Given the description of an element on the screen output the (x, y) to click on. 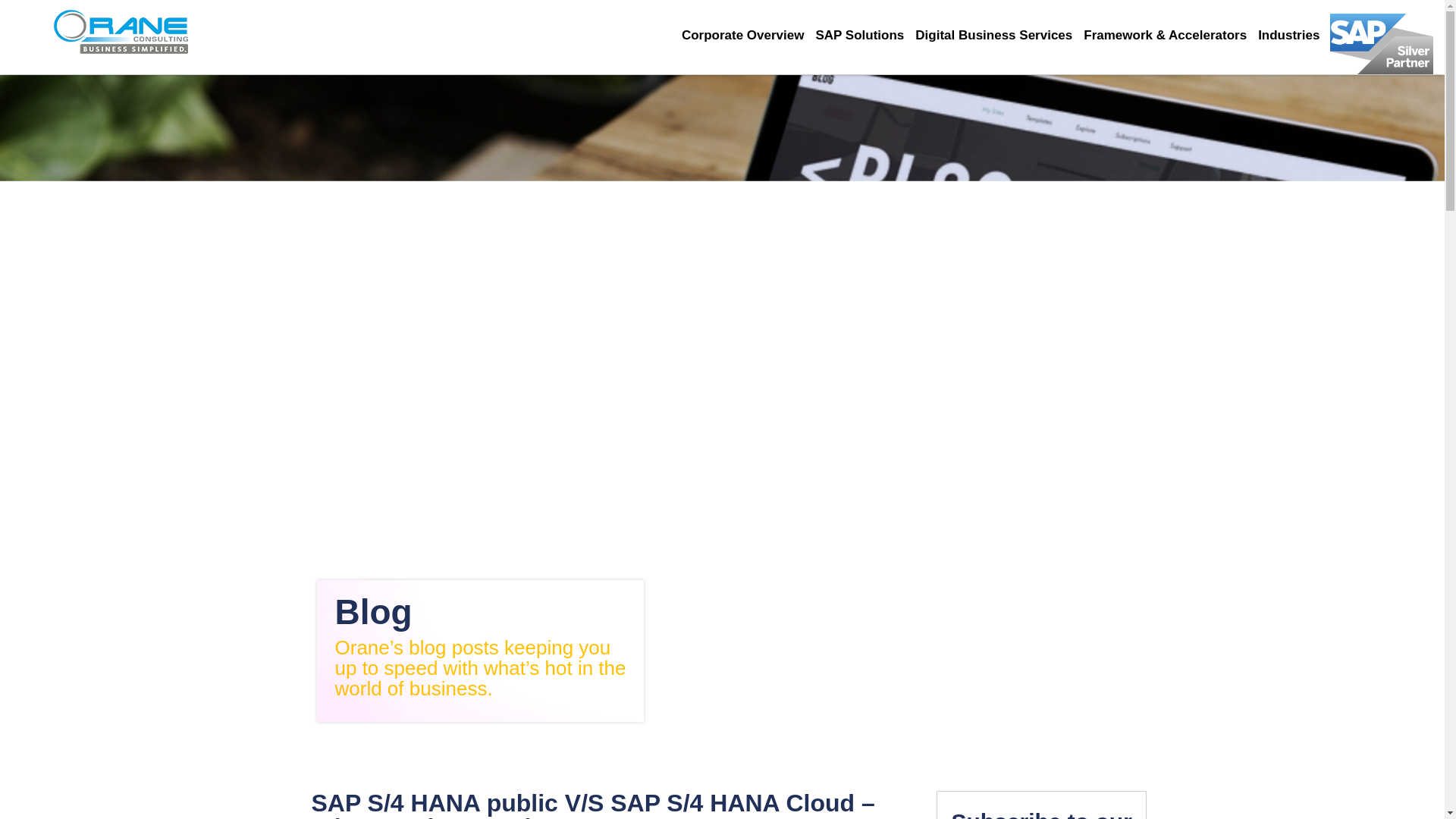
Digital Business Services (999, 35)
Industries (1293, 35)
Corporate Overview (748, 35)
SAP Solutions (865, 35)
